Given the description of an element on the screen output the (x, y) to click on. 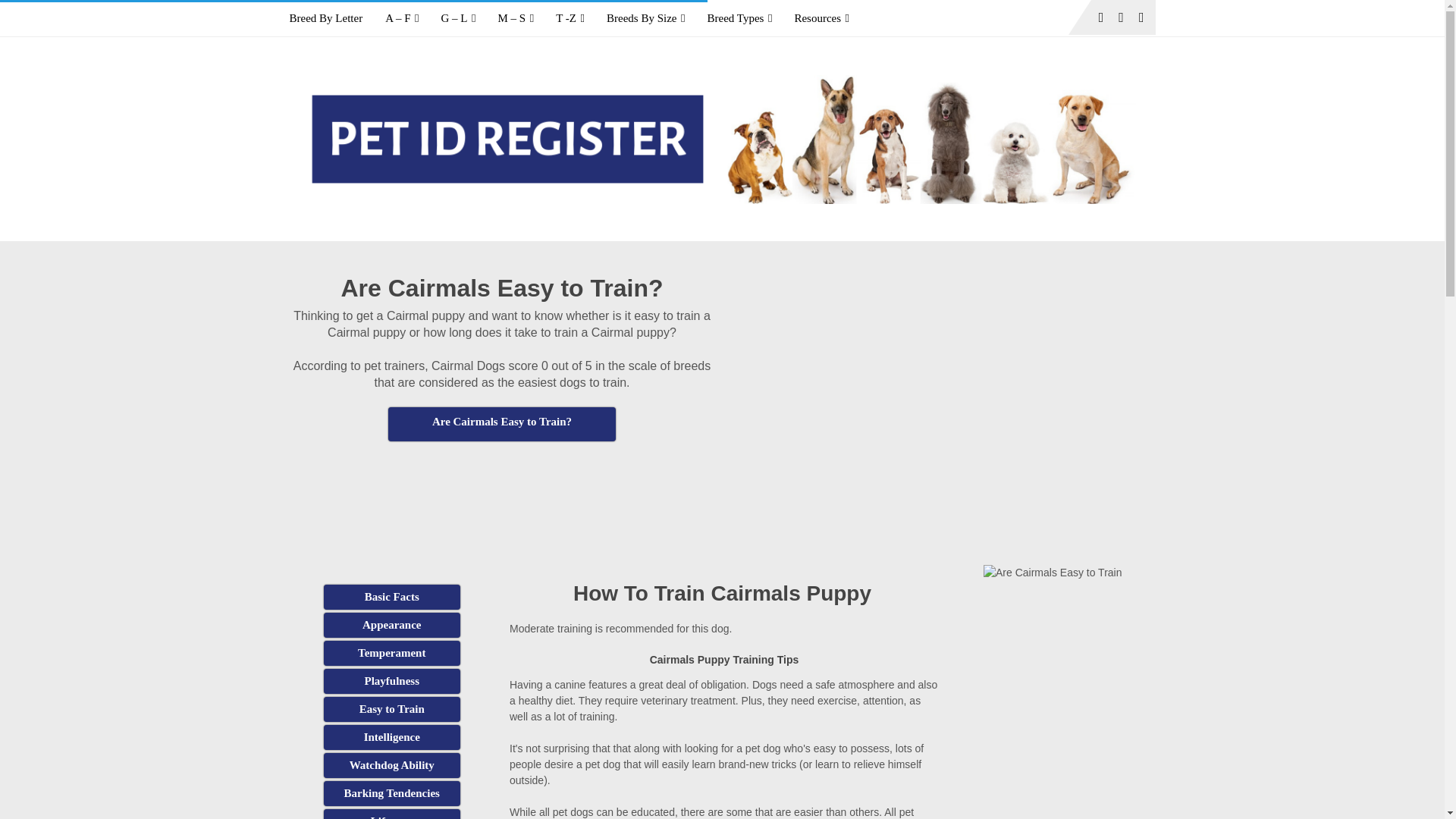
Are Cairmal Dogs Easy to Train? (391, 708)
Breed Types (739, 18)
How does a Cairmal Dog look like? (391, 625)
Are Cairmal Dogs intelligent? (391, 737)
Will Cairmal Dogs make good guard dogs? (391, 765)
Breed By Letter (331, 18)
What is the lifespan of Cairmal Dogs? (391, 814)
Advertisement (501, 479)
T -Z (569, 18)
What are the temperaments of Cairmal Dogs? (391, 652)
Do Cairmal Dogs bark a lot? (391, 793)
Cairmal Dog Facts? (391, 596)
Resources (821, 18)
Breeds By Size (645, 18)
tooltip (501, 424)
